Given the description of an element on the screen output the (x, y) to click on. 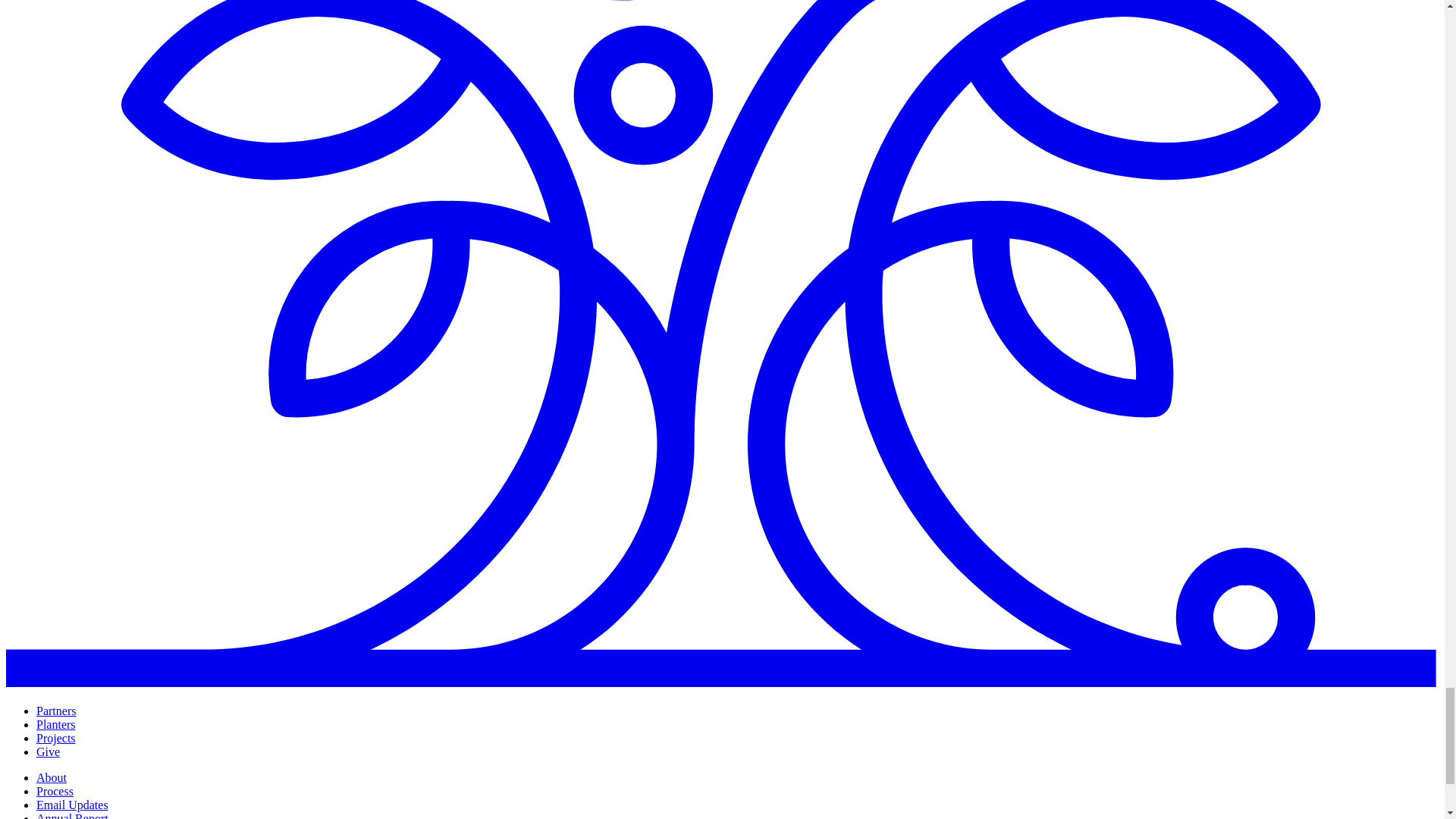
About (51, 777)
Projects (55, 738)
Annual Report (71, 815)
Email Updates (71, 804)
Give (47, 751)
Partners (55, 710)
Process (55, 790)
Planters (55, 724)
